Given the description of an element on the screen output the (x, y) to click on. 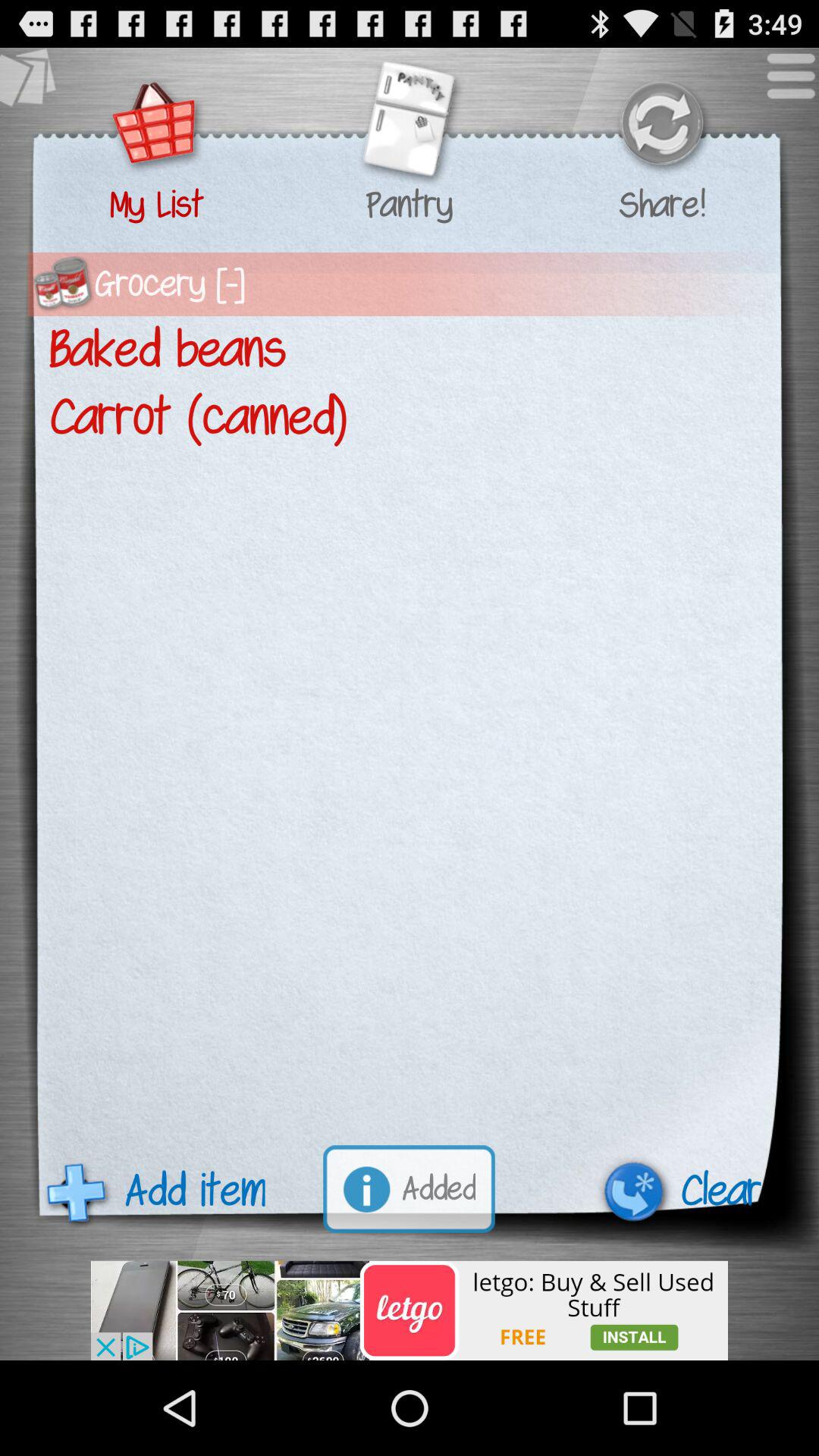
menu page (783, 83)
